Given the description of an element on the screen output the (x, y) to click on. 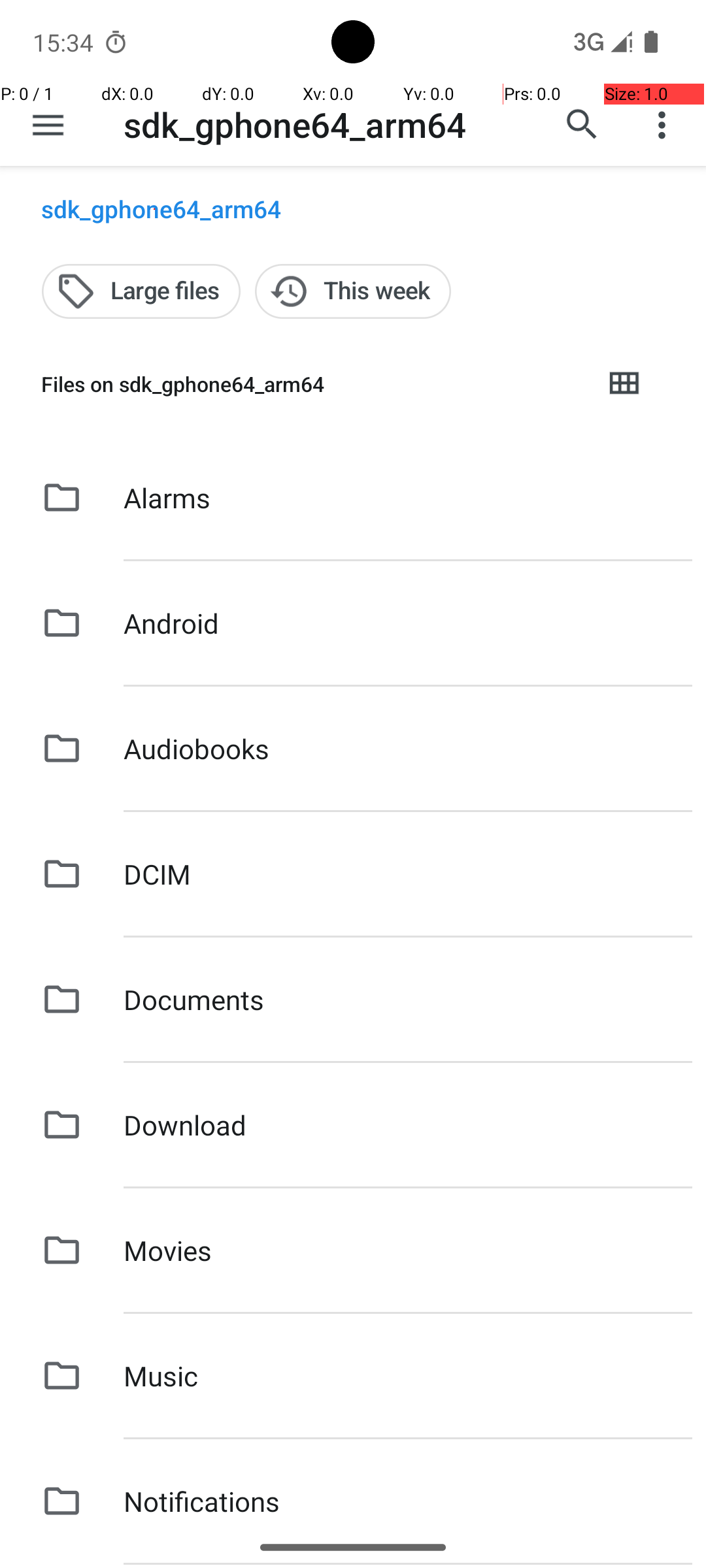
Files on sdk_gphone64_arm64 Element type: android.widget.TextView (311, 383)
Alarms Element type: android.widget.TextView (166, 497)
Android Element type: android.widget.TextView (170, 622)
Audiobooks Element type: android.widget.TextView (196, 748)
